Given the description of an element on the screen output the (x, y) to click on. 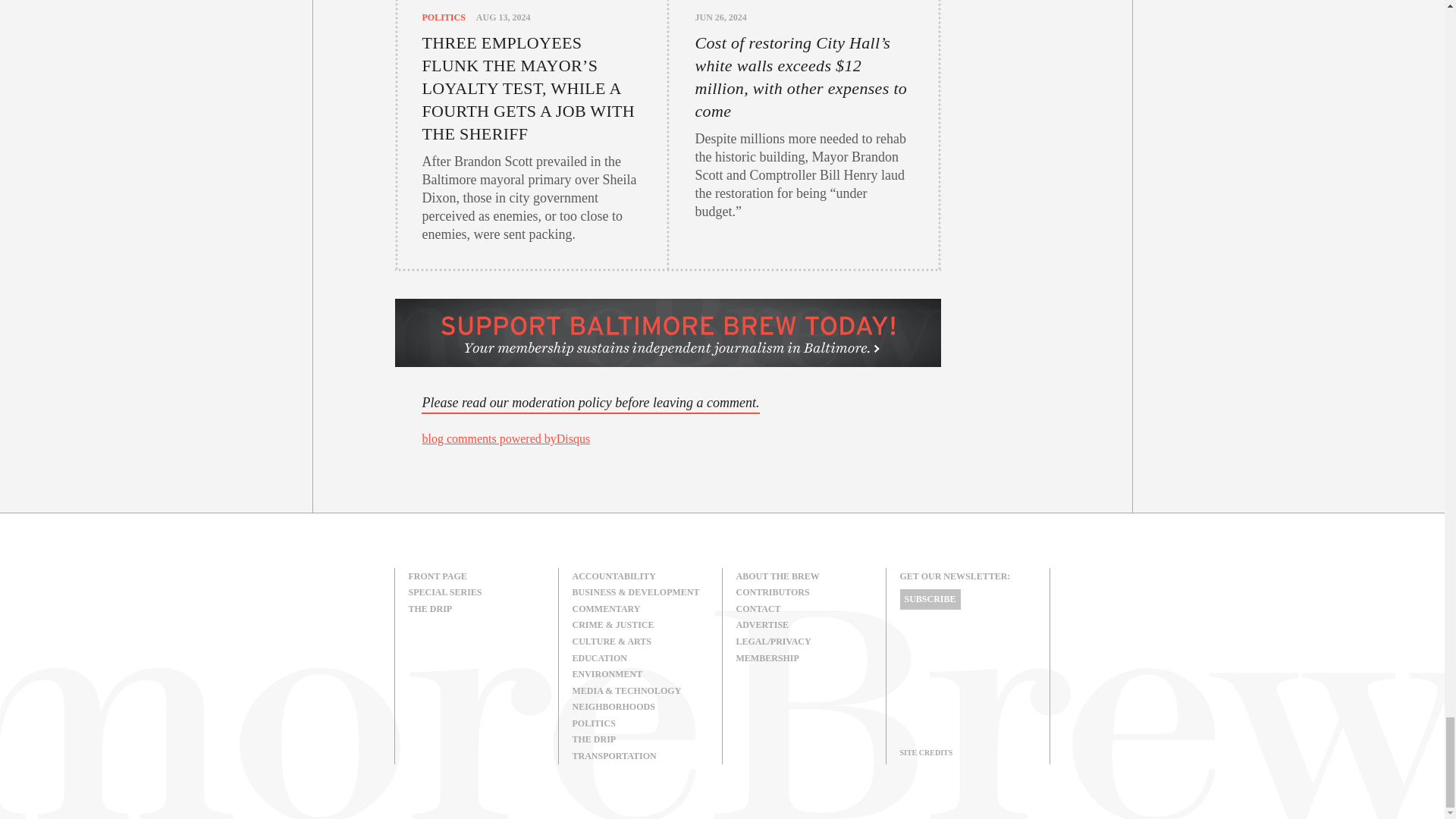
blog comments powered byDisqus (505, 438)
Upper management at retirement system comes under scrutiny (667, 439)
THE DRIP (475, 608)
SPECIAL SERIES (475, 592)
POLITICS (443, 17)
FRONT PAGE (475, 576)
ACCOUNTABILITY (639, 576)
Please read our moderation policy before leaving a comment. (590, 402)
